Given the description of an element on the screen output the (x, y) to click on. 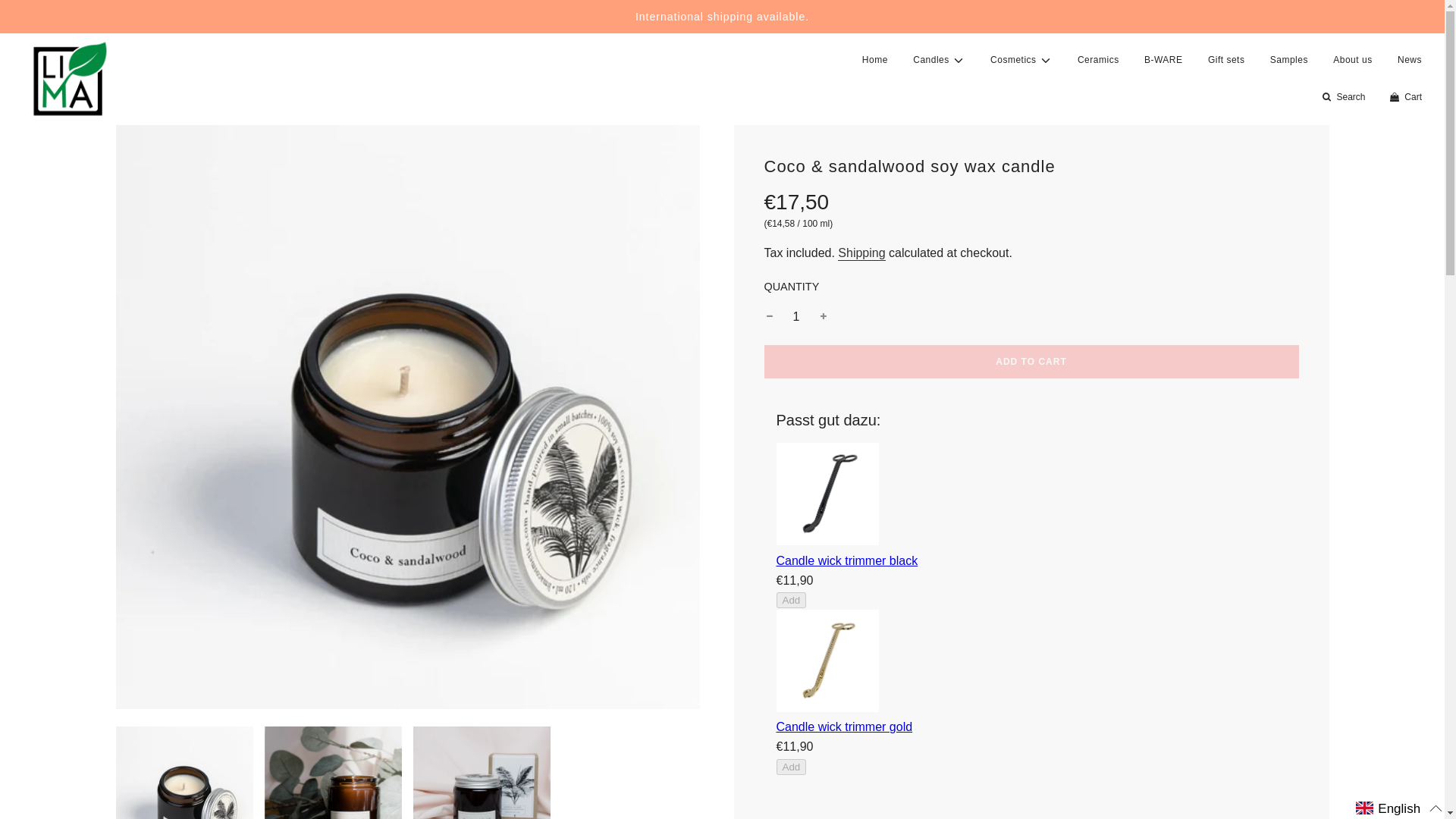
1 (796, 316)
